Given the description of an element on the screen output the (x, y) to click on. 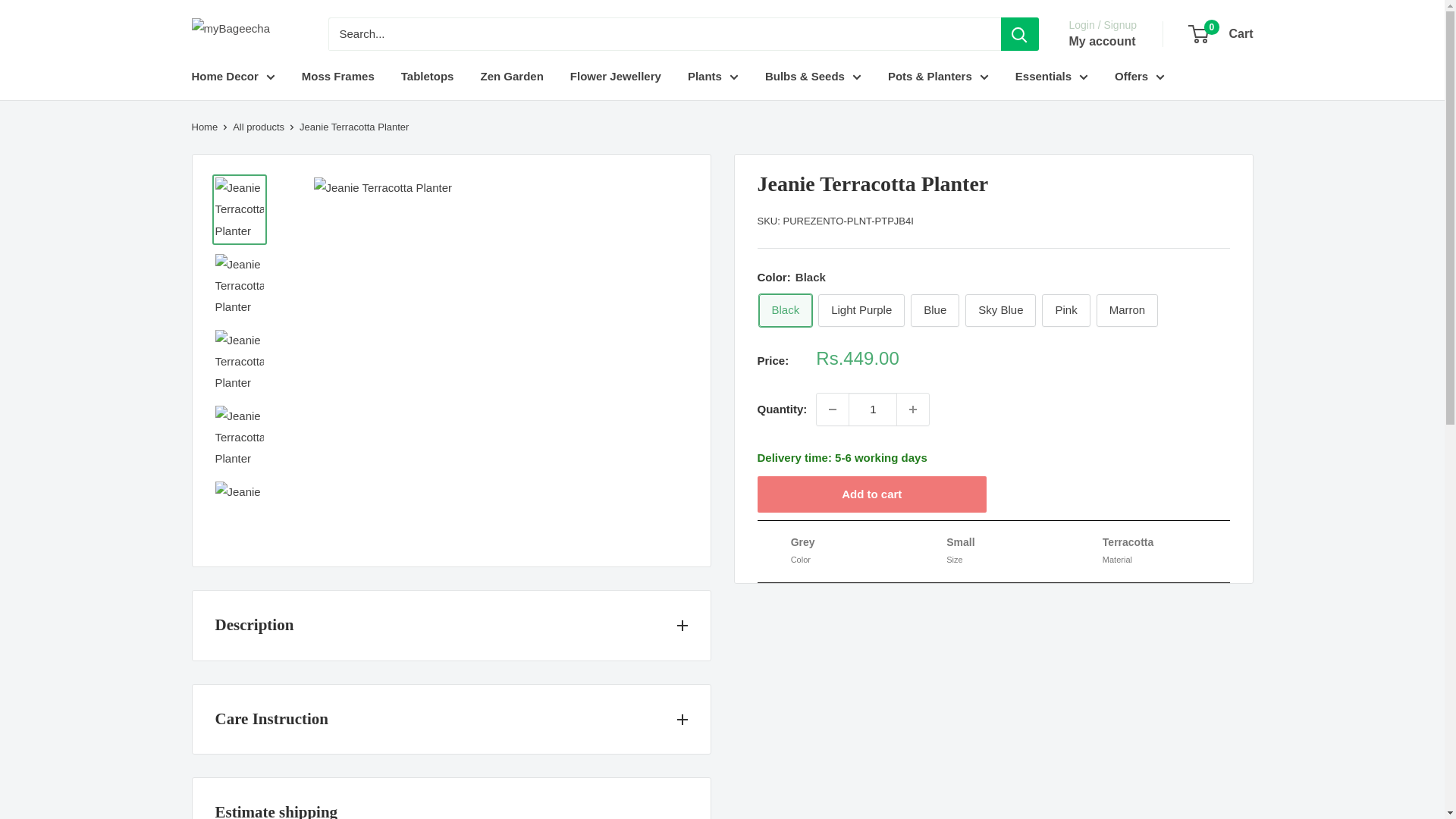
Marron (1127, 310)
Increase quantity by 1 (912, 409)
Pink (1065, 310)
Light Purple (861, 310)
Decrease quantity by 1 (832, 409)
1 (872, 409)
Blue (935, 310)
Black (785, 310)
Sky Blue (1000, 310)
